Given the description of an element on the screen output the (x, y) to click on. 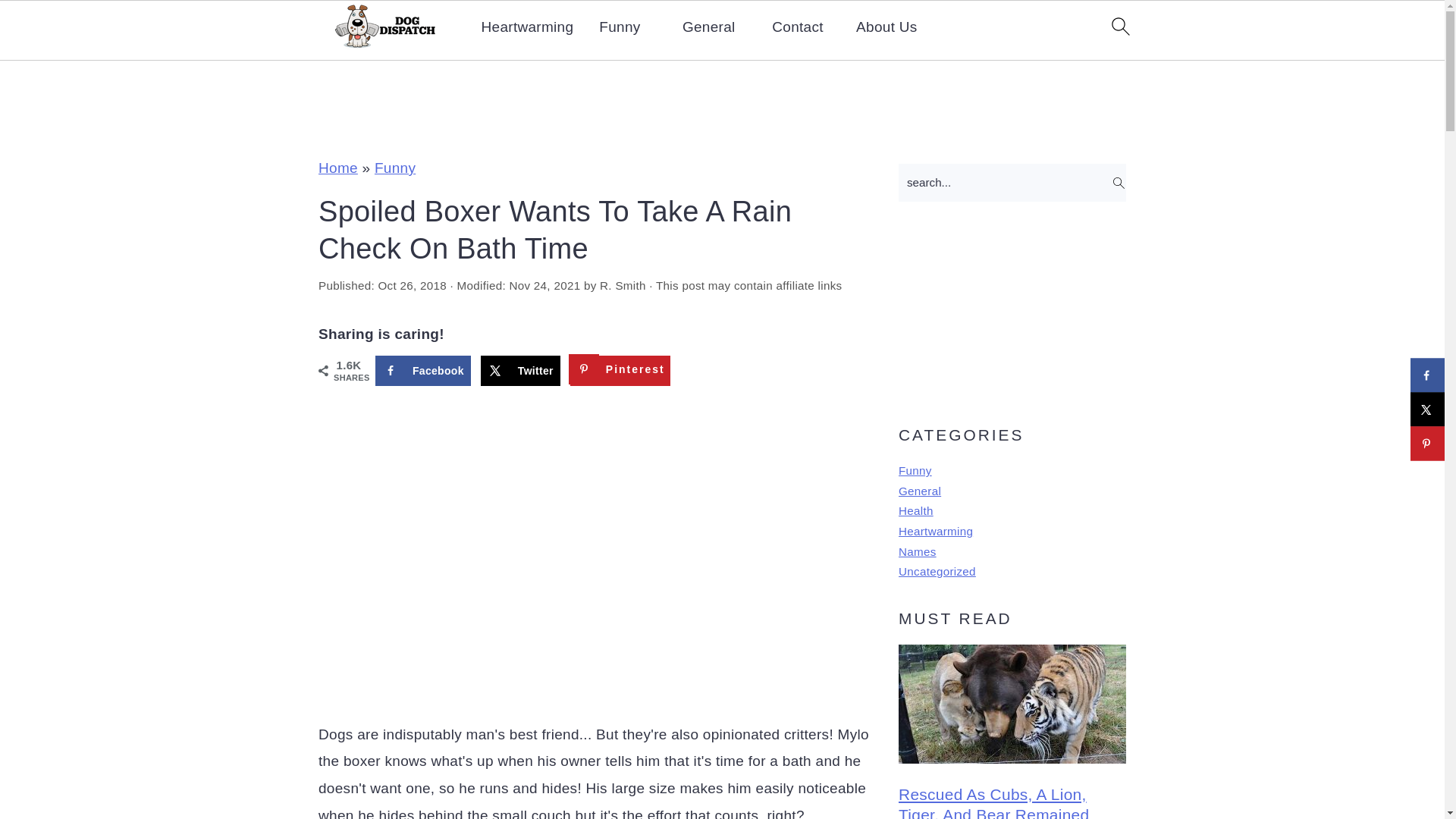
Funny (394, 167)
Share on Facebook (422, 370)
Save to Pinterest (619, 370)
Pinterest (619, 370)
Home (338, 167)
search icon (1119, 26)
Funny (914, 470)
